Given the description of an element on the screen output the (x, y) to click on. 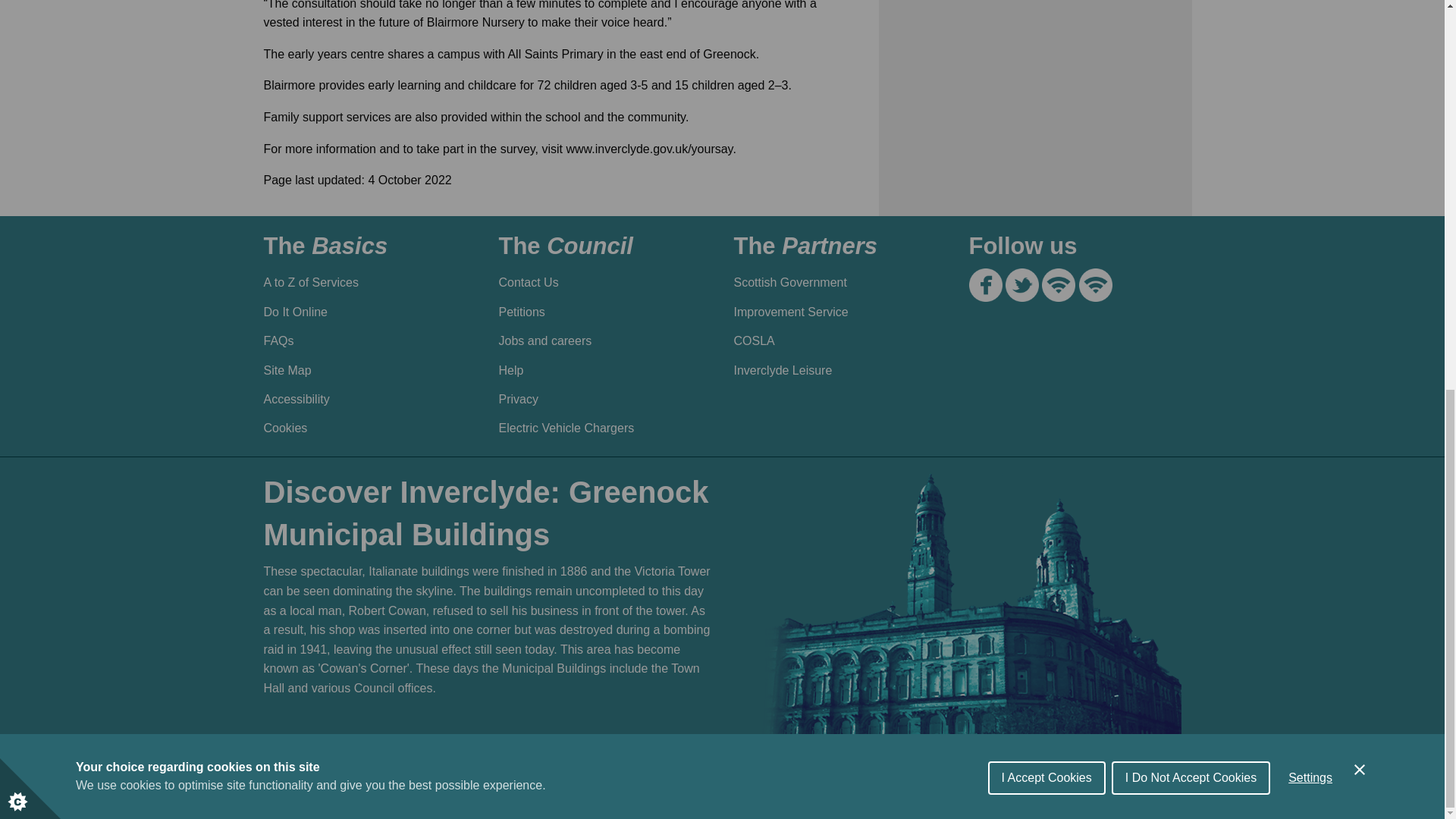
Do It Online (363, 312)
Accessibility (363, 399)
I Do Not Accept Cookies (1190, 86)
A to Z of Services (363, 282)
FAQs (363, 340)
Inverclyde Council News Feed (1058, 285)
I Accept Cookies (1046, 101)
Inverclyde Council Events Feed (1095, 285)
Cookies (363, 428)
Site Map (363, 369)
